Given the description of an element on the screen output the (x, y) to click on. 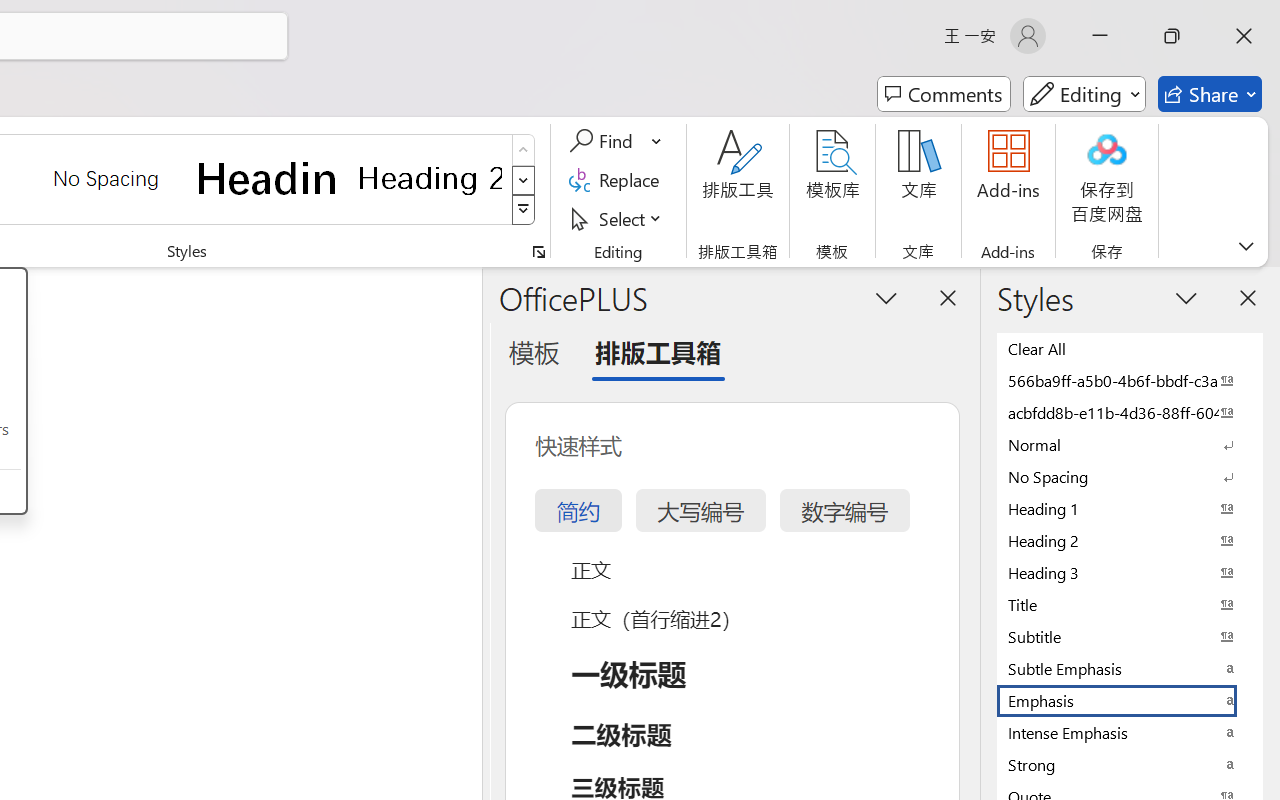
Emphasis (1130, 700)
